Given the description of an element on the screen output the (x, y) to click on. 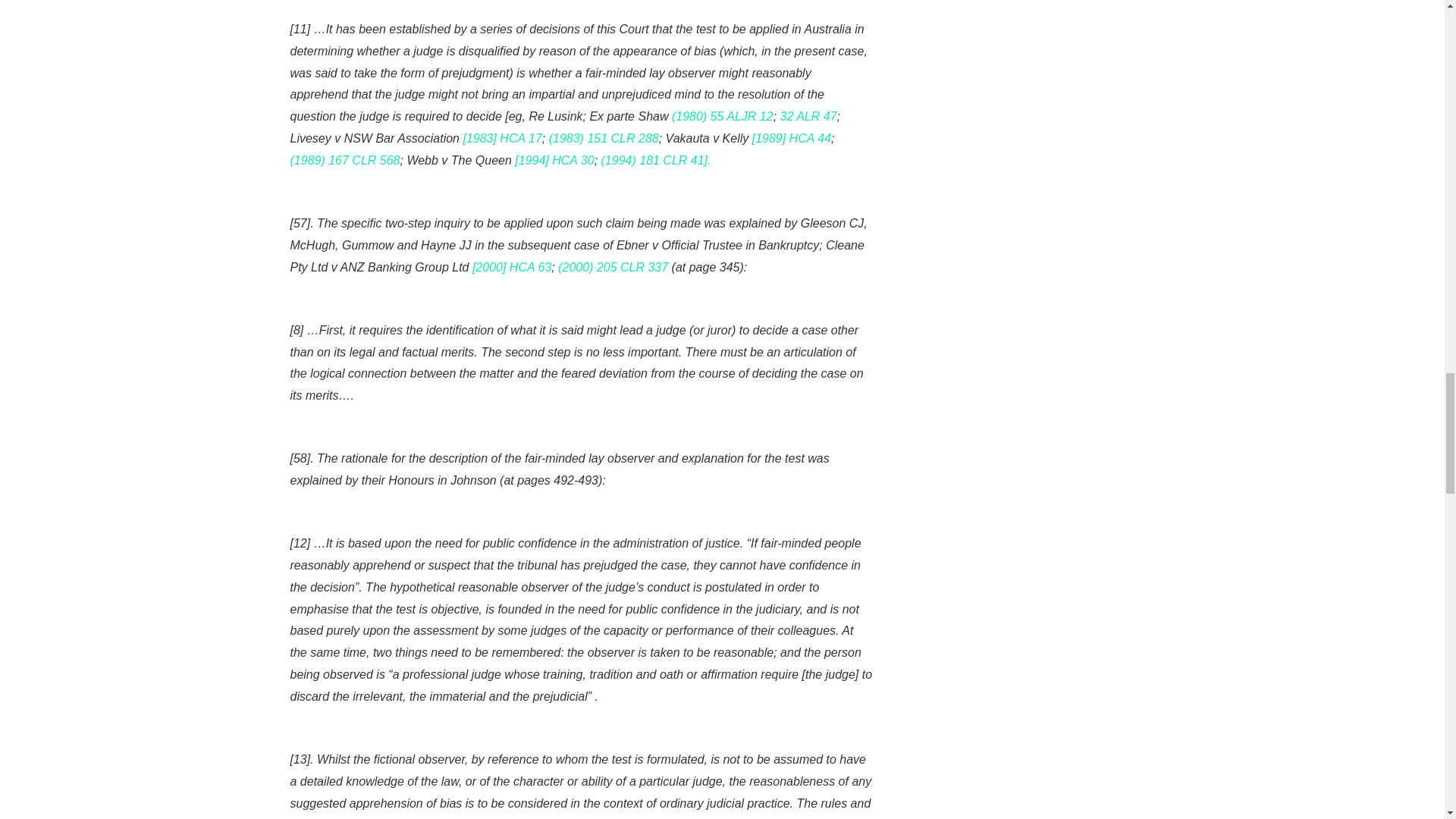
View Case (511, 267)
View Case (791, 137)
View LawCiteRecord (722, 115)
View LawCiteRecord (603, 137)
View LawCiteRecord (343, 160)
View LawCiteRecord (656, 160)
View Case (502, 137)
View Case (554, 160)
View LawCiteRecord (808, 115)
